Given the description of an element on the screen output the (x, y) to click on. 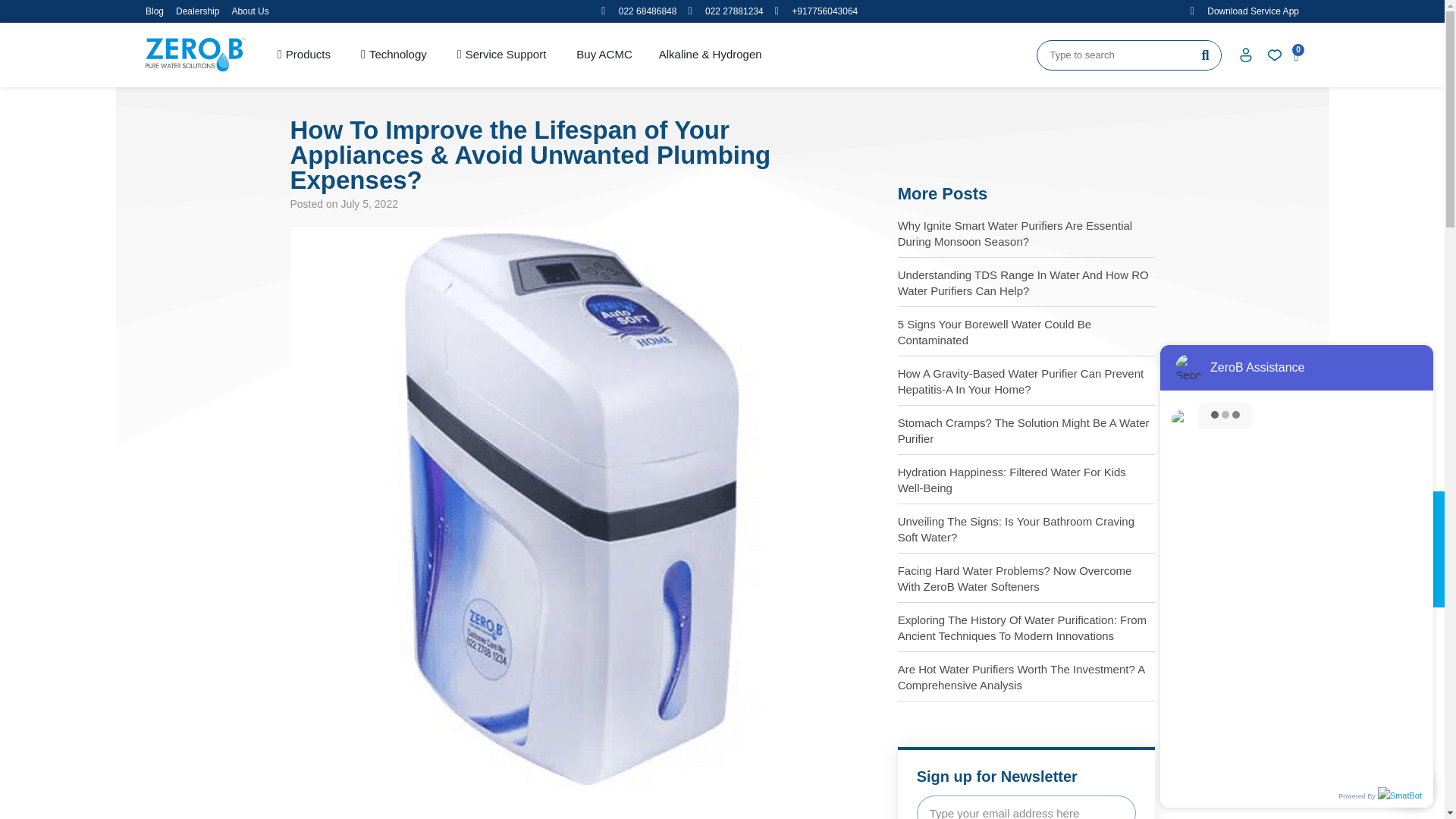
022 68486848 (639, 11)
Dealership (197, 11)
Technology (393, 54)
About Us (249, 11)
Products (304, 54)
Blog (154, 11)
022 27881234 (724, 11)
